Given the description of an element on the screen output the (x, y) to click on. 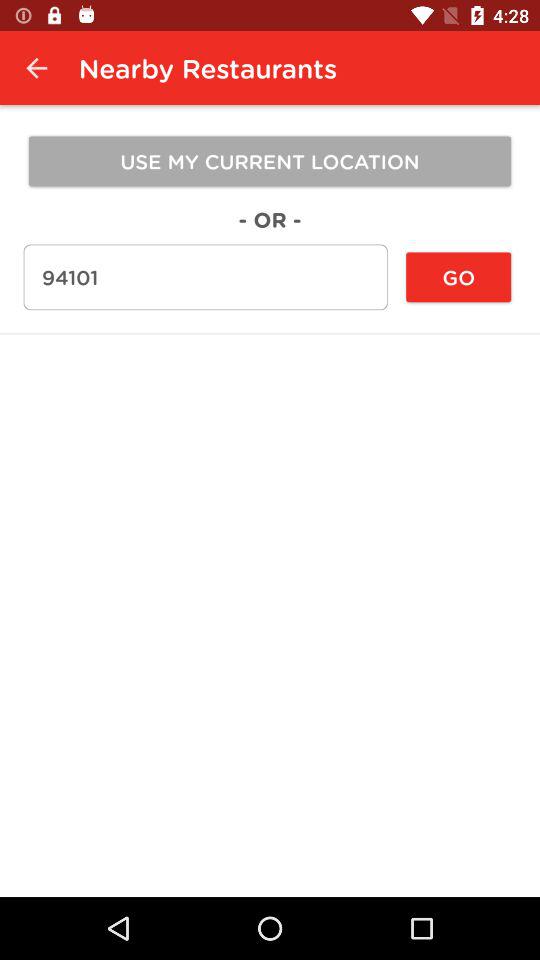
go to the text box left to the text go (205, 277)
